Given the description of an element on the screen output the (x, y) to click on. 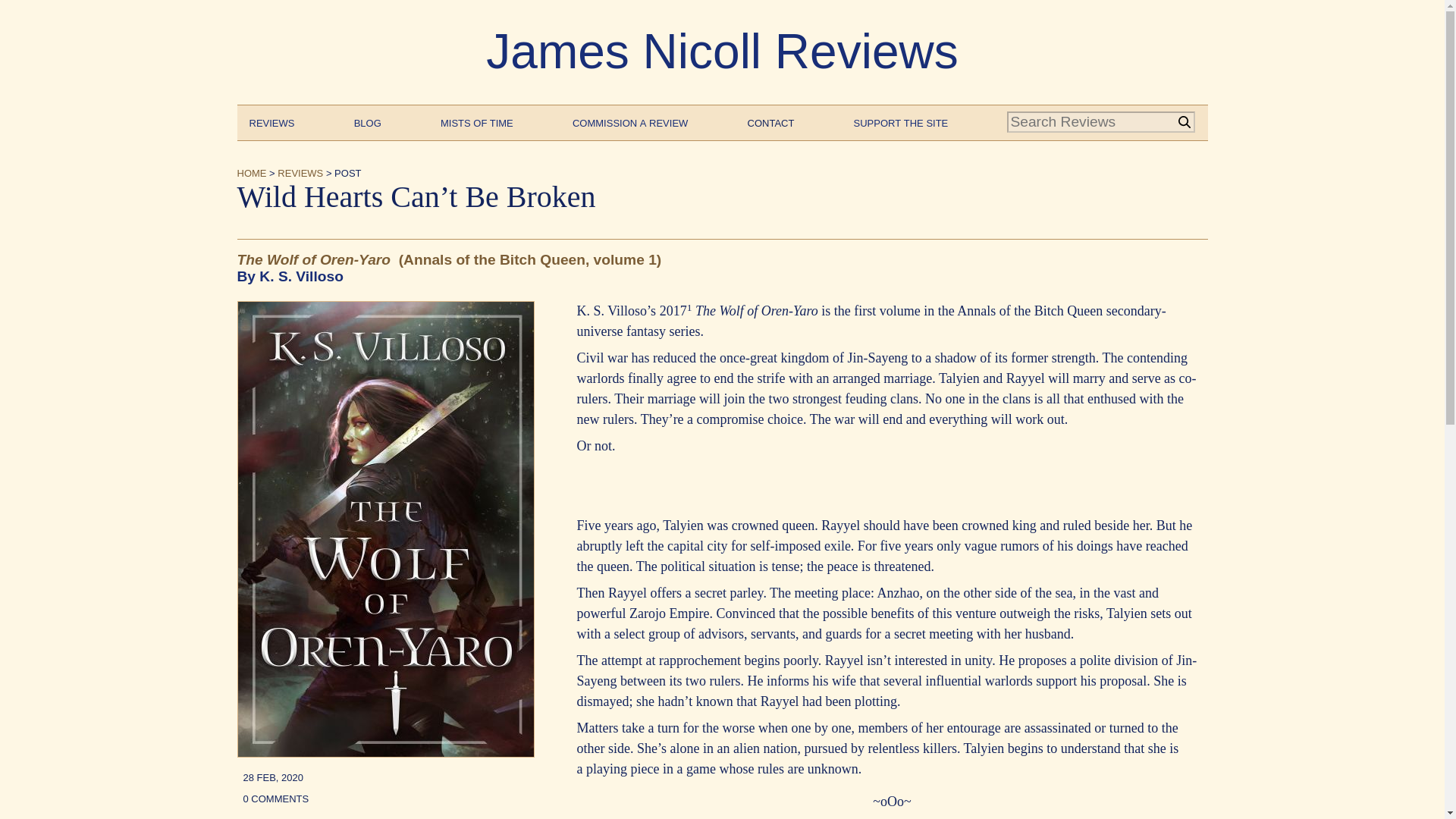
Commission a Review (629, 121)
Reviews (271, 121)
Support the Site (901, 121)
Reviews (300, 171)
Home (250, 171)
Mists of Time (477, 121)
Blog (367, 121)
James Nicoll Reviews (722, 51)
